Given the description of an element on the screen output the (x, y) to click on. 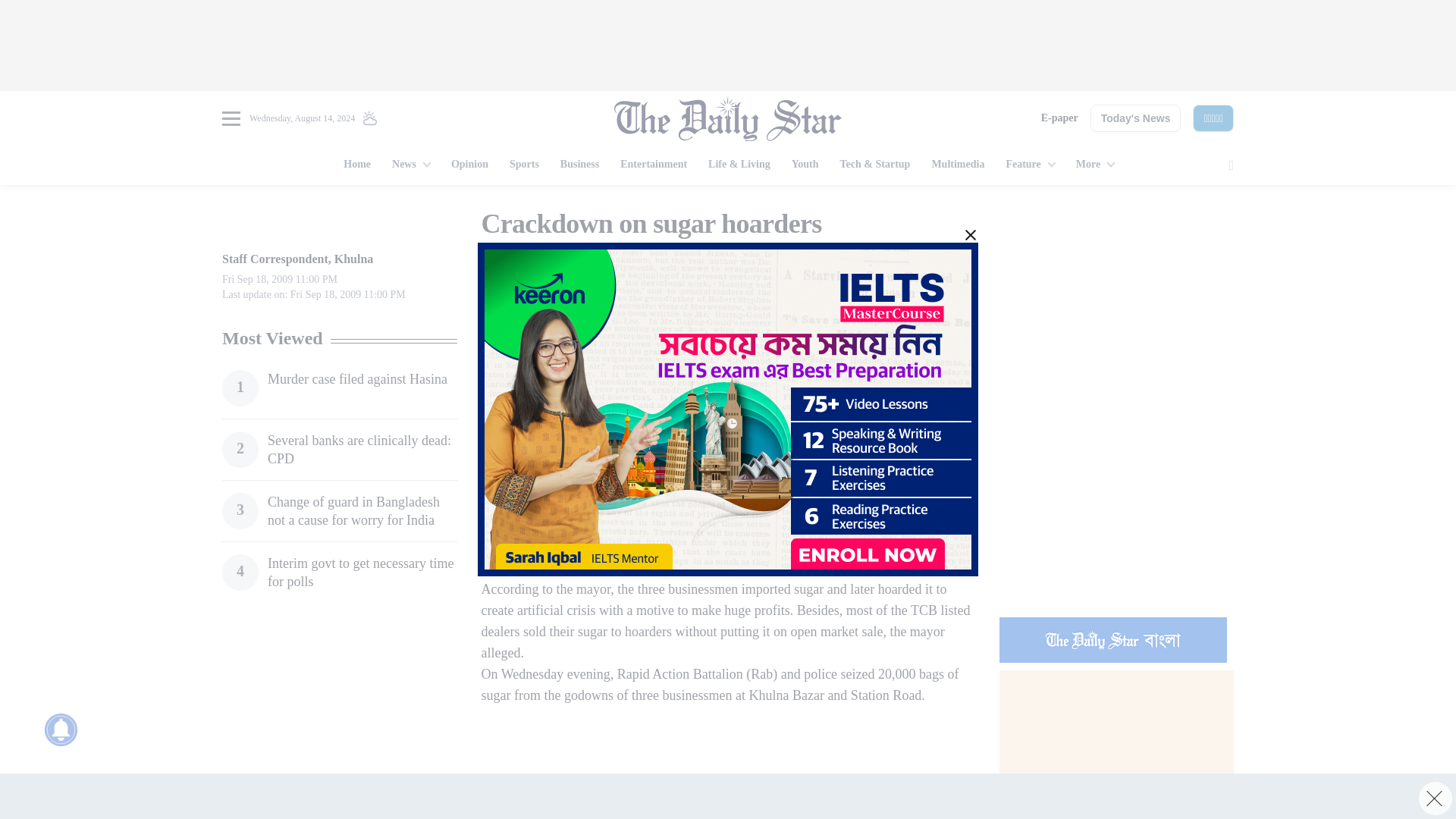
3rd party ad content (720, 750)
3rd party ad content (338, 717)
3rd party ad content (1116, 302)
3rd party ad content (727, 796)
E-paper (1059, 117)
3rd party ad content (1116, 506)
Today's News (1135, 117)
Multimedia (956, 165)
Business (579, 165)
3rd party ad content (727, 45)
